Given the description of an element on the screen output the (x, y) to click on. 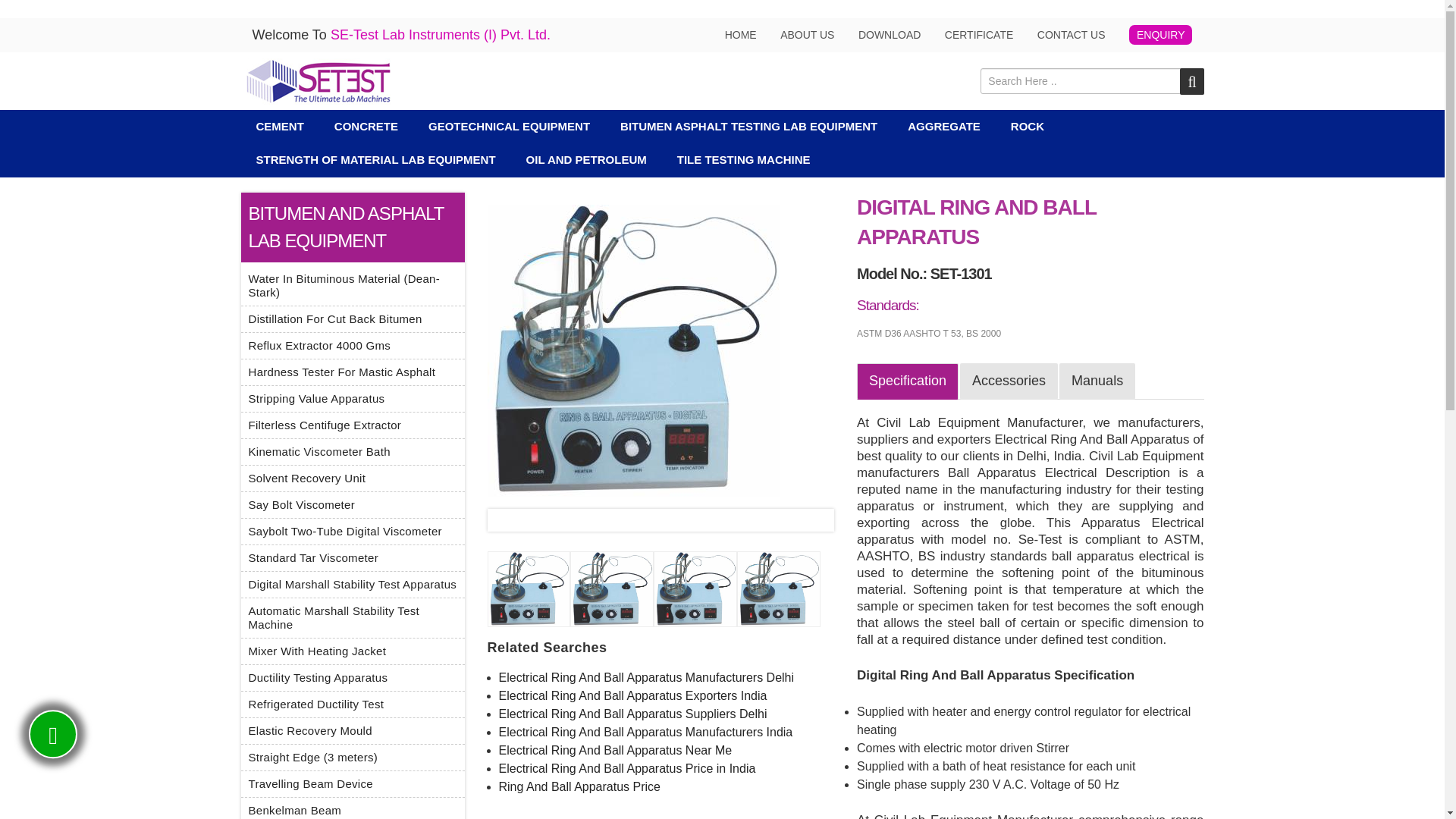
Stripping Value Apparatus (316, 398)
HOME (741, 34)
Accessories (1008, 381)
Filterless Centifuge Extractor (324, 424)
ENQUIRY (1160, 35)
AGGREGATE (943, 126)
GEOTECHNICAL EQUIPMENT (509, 126)
CERTIFICATE (978, 34)
OIL AND PETROLEUM (586, 159)
Specification (907, 381)
